Given the description of an element on the screen output the (x, y) to click on. 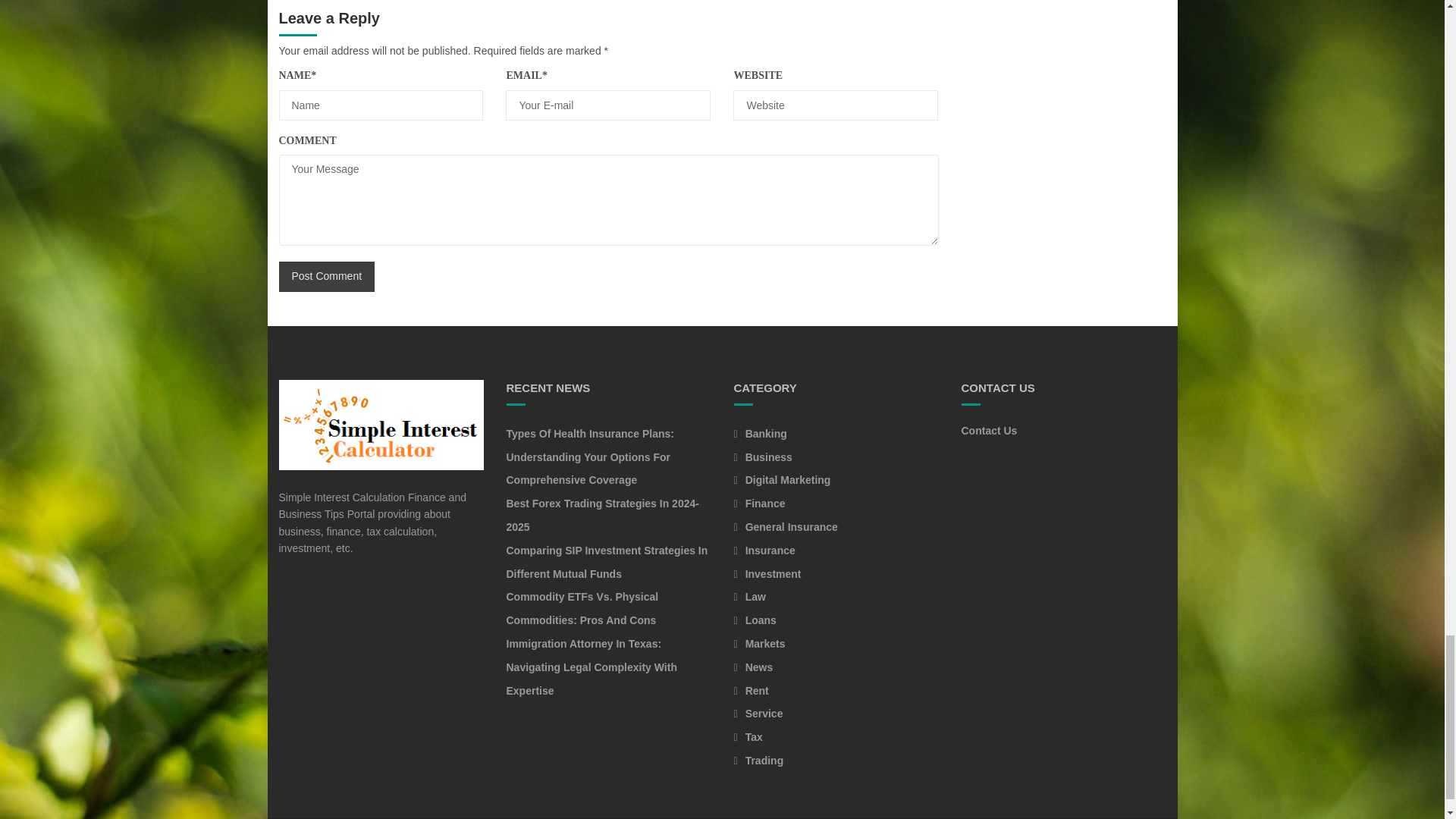
Post Comment (327, 276)
